Given the description of an element on the screen output the (x, y) to click on. 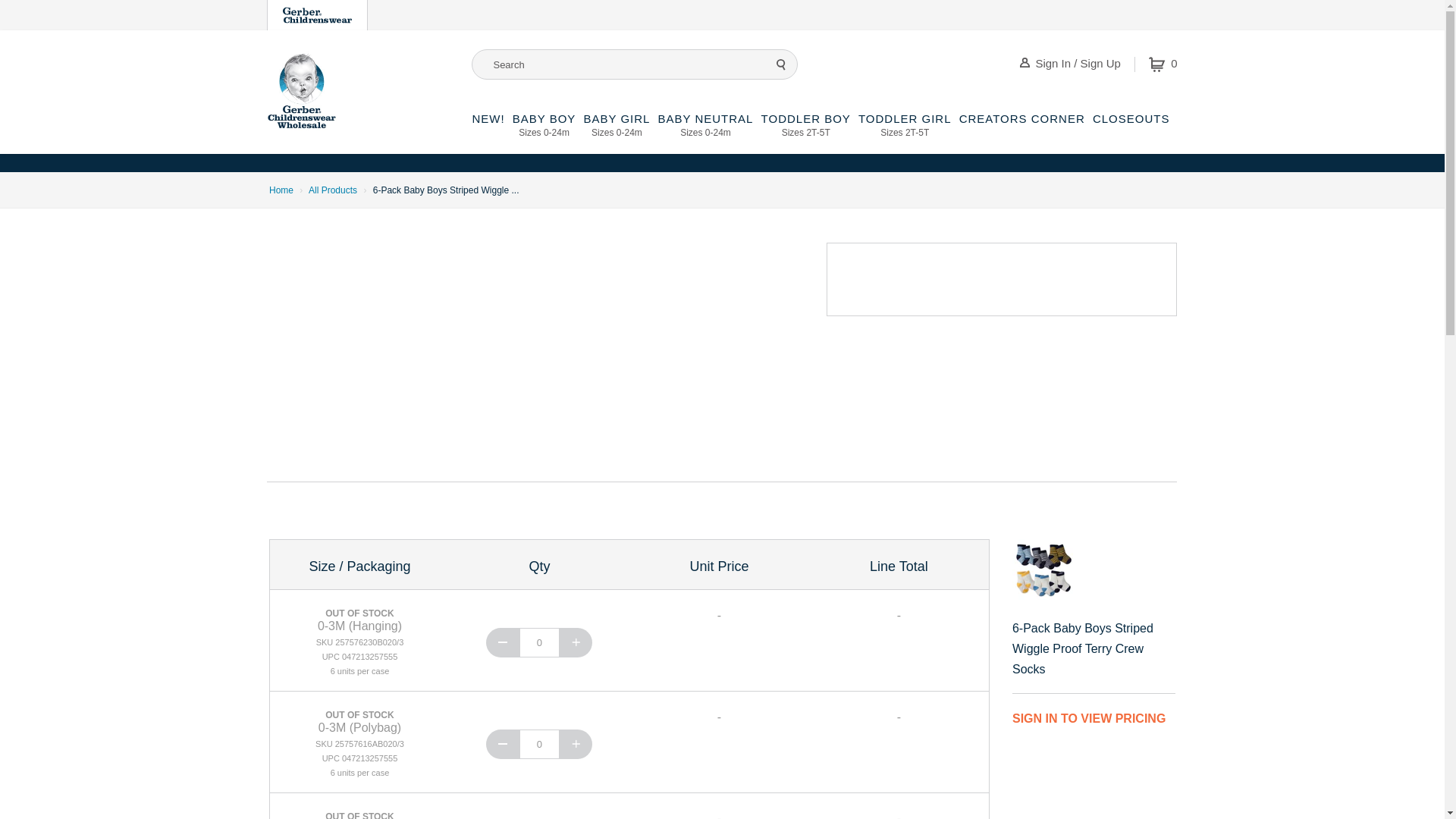
0 (539, 642)
Home (616, 132)
Gerber Childrenswear (281, 190)
0 (316, 15)
Search (539, 744)
